Given the description of an element on the screen output the (x, y) to click on. 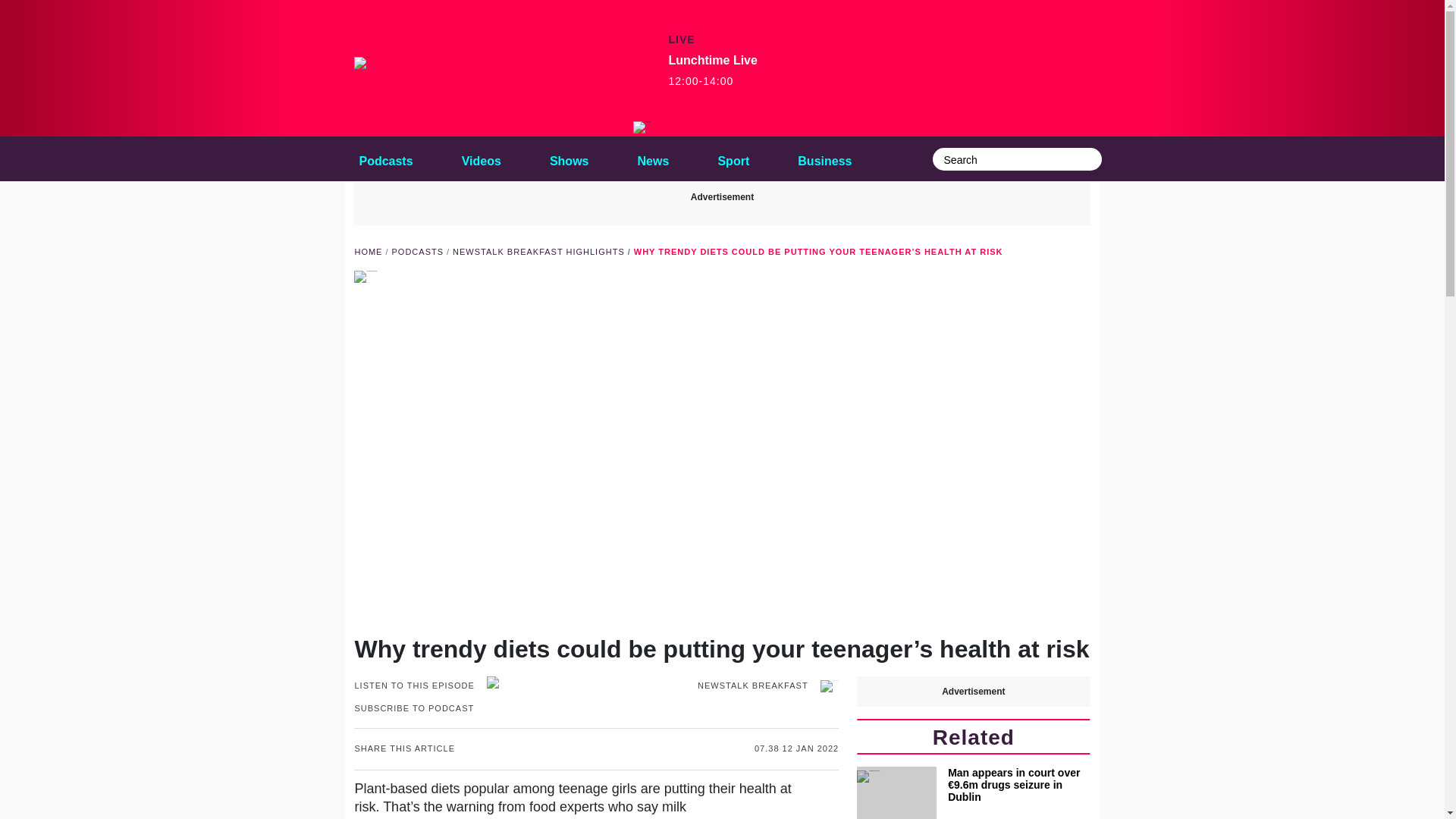
NEWSTALK BREAKFAST (767, 686)
NEWSTALK BREAKFAST HIGHLIGHTS (538, 251)
Shows (569, 158)
Shows (569, 158)
PODCASTS (417, 251)
Business (712, 70)
News (824, 158)
Podcasts (653, 158)
News (384, 158)
Sport (653, 158)
Podcasts (733, 158)
Videos (384, 158)
HOME (481, 158)
Videos (367, 251)
